Given the description of an element on the screen output the (x, y) to click on. 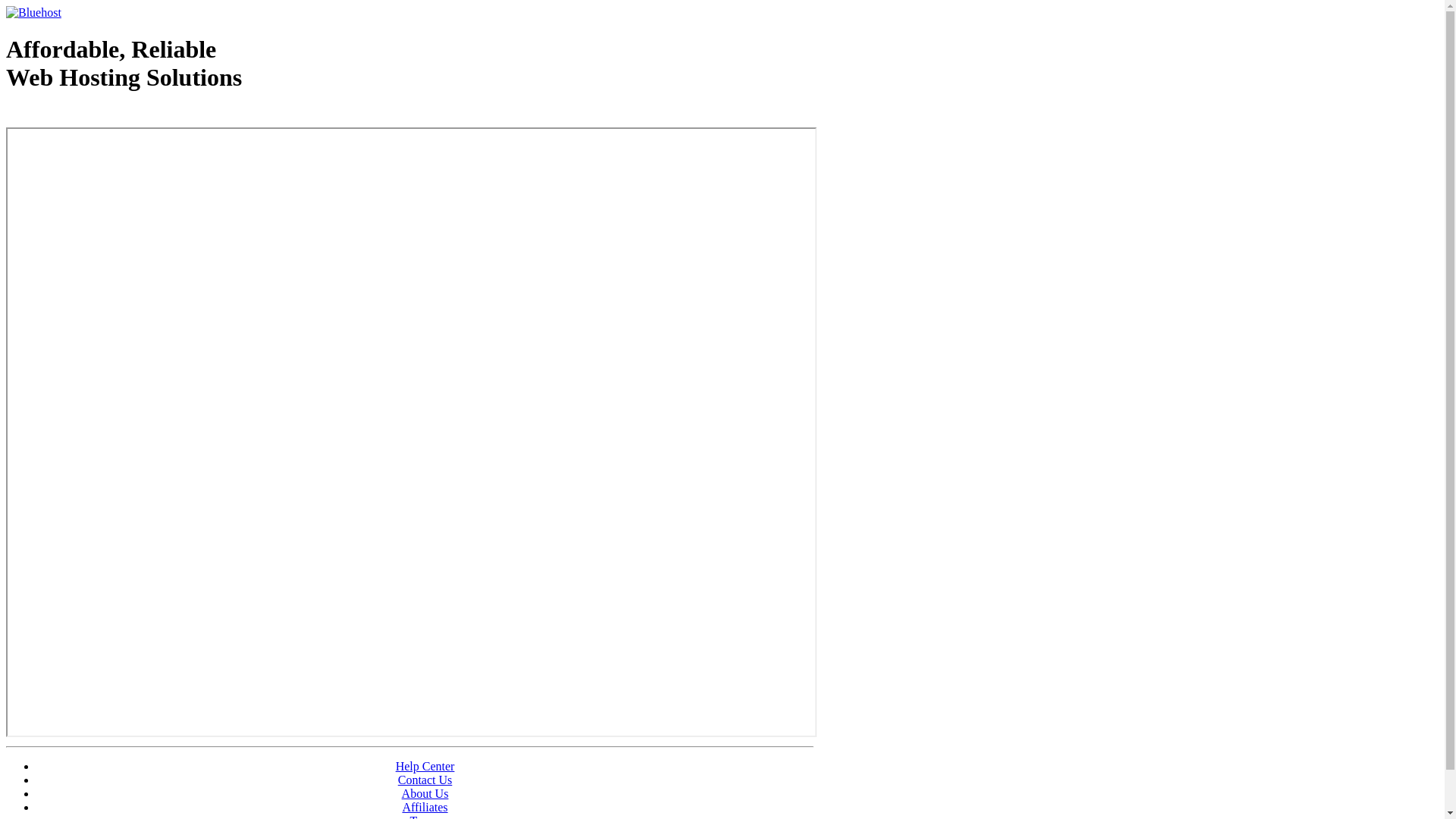
Affiliates Element type: text (424, 806)
Contact Us Element type: text (425, 779)
Web Hosting - courtesy of www.bluehost.com Element type: text (94, 115)
Help Center Element type: text (425, 765)
About Us Element type: text (424, 793)
